Given the description of an element on the screen output the (x, y) to click on. 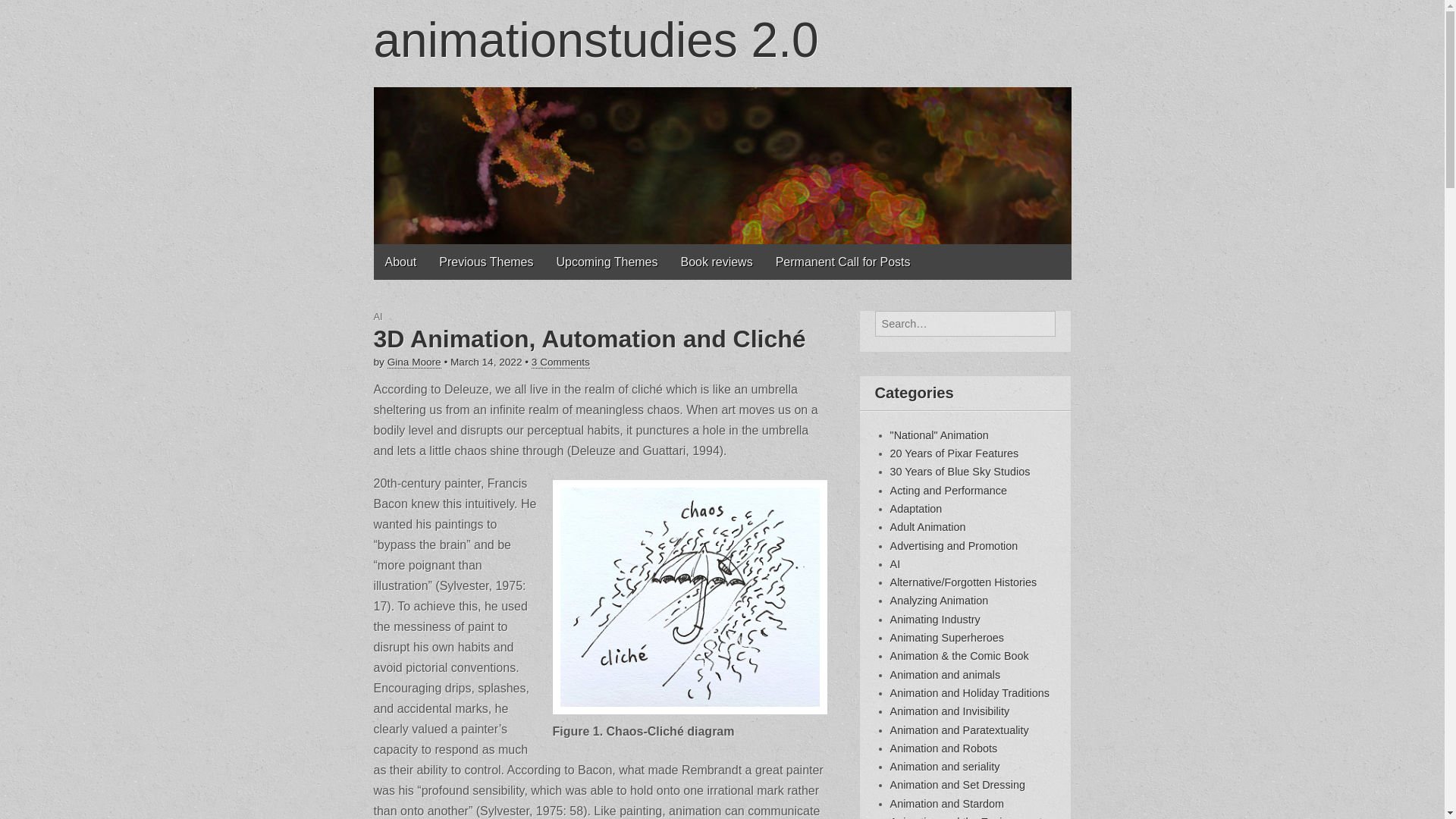
Adaptation (915, 508)
About (400, 262)
3 Comments (560, 362)
Advertising and Promotion (953, 545)
Analyzing Animation (938, 600)
Upcoming Themes (606, 262)
Adult Animation (927, 526)
Book reviews (715, 262)
"National" Animation (938, 435)
Gina Moore (414, 362)
Previous Themes (486, 262)
Animating Industry (934, 619)
Posts by Gina Moore (414, 362)
animationstudies 2.0 (595, 40)
30 Years of Blue Sky Studios (959, 471)
